Given the description of an element on the screen output the (x, y) to click on. 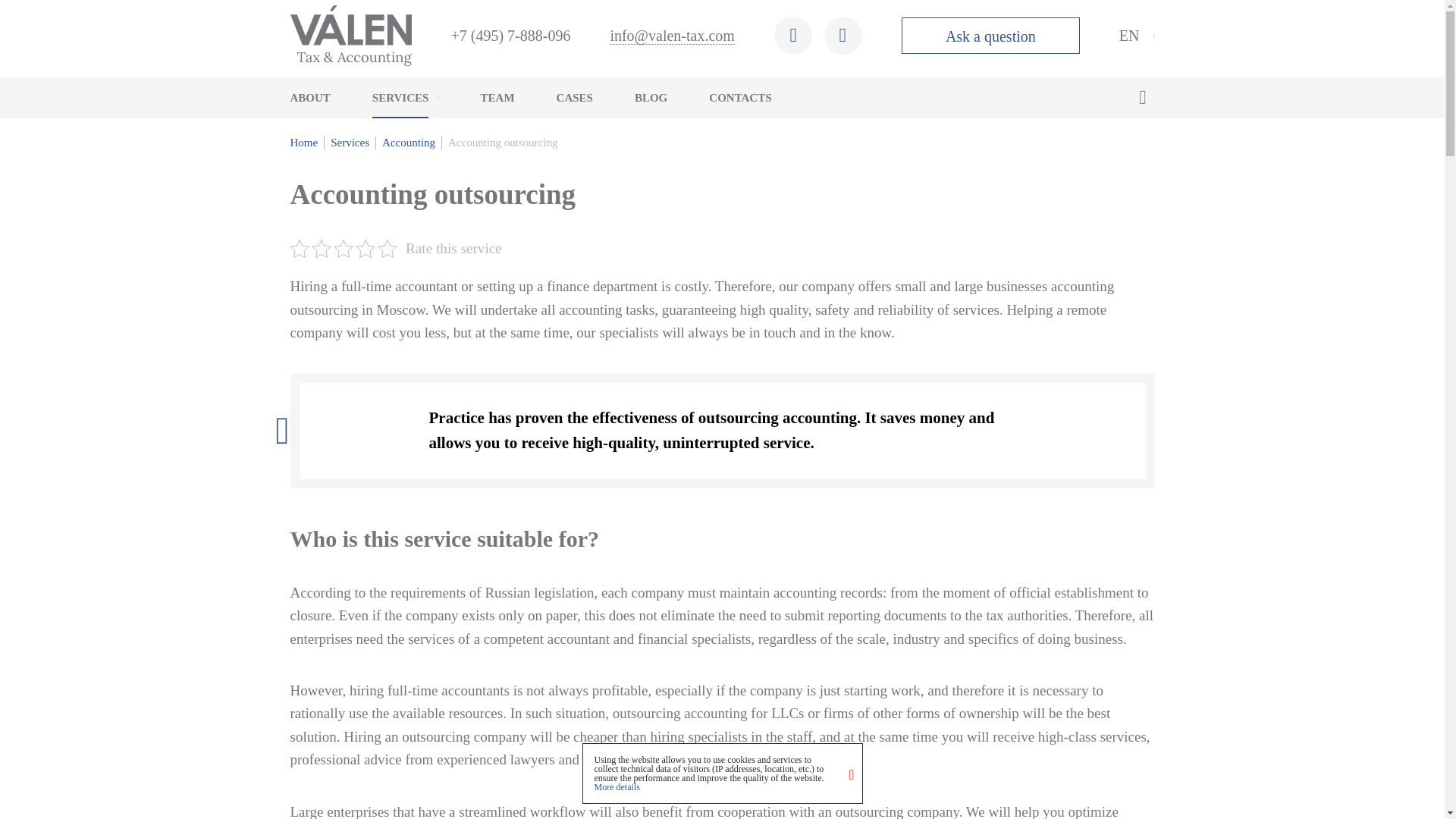
Preparation and submission of accounting and tax reports (764, 175)
Tax planning (461, 393)
Outsourced accounting (965, 140)
CFO Function (461, 327)
CONTACTS (740, 96)
Ask a question (990, 35)
International tax planning (712, 168)
Audit (461, 203)
Tax arrangements (693, 140)
